Given the description of an element on the screen output the (x, y) to click on. 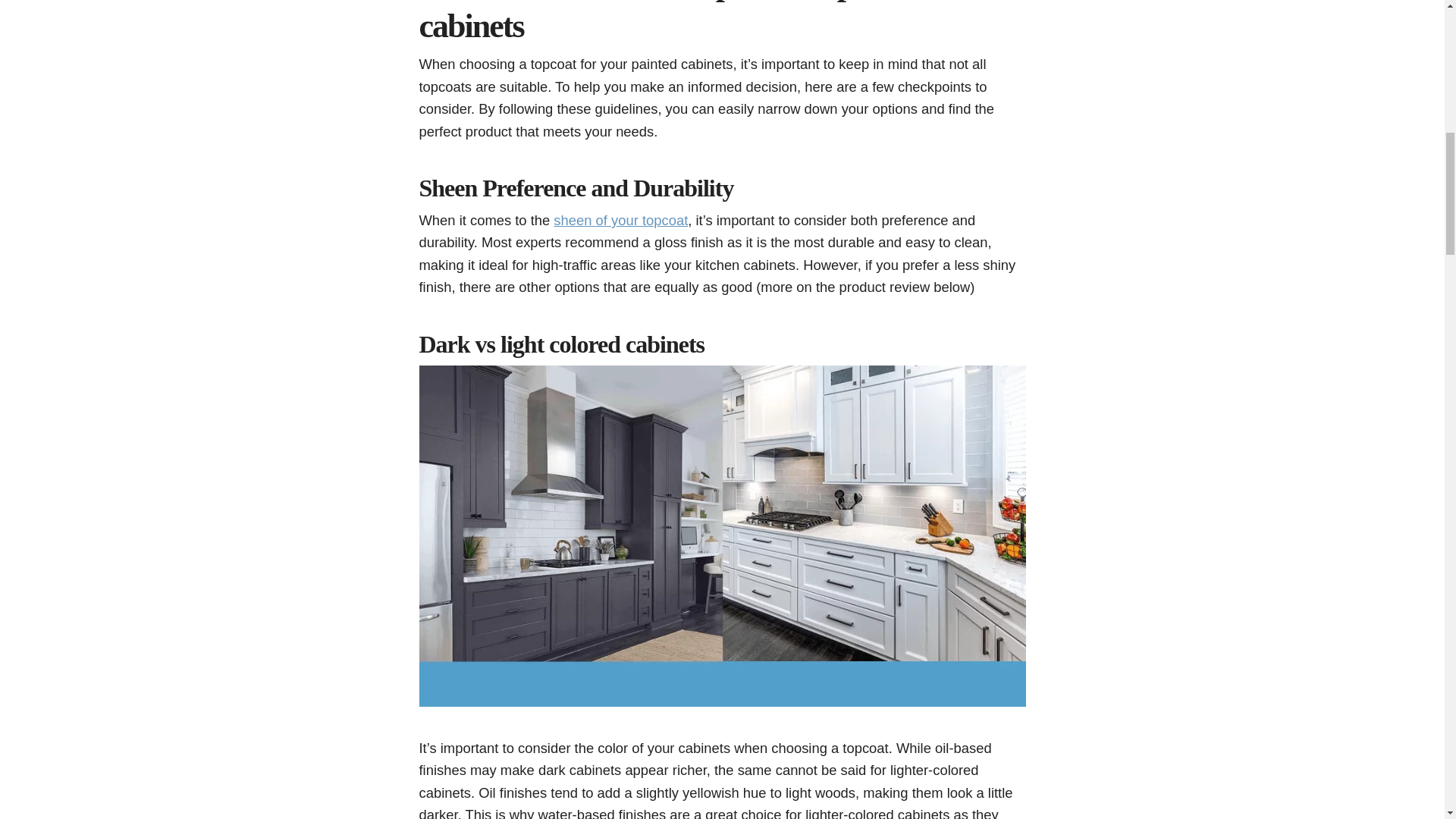
sheen of your topcoat (620, 220)
